Given the description of an element on the screen output the (x, y) to click on. 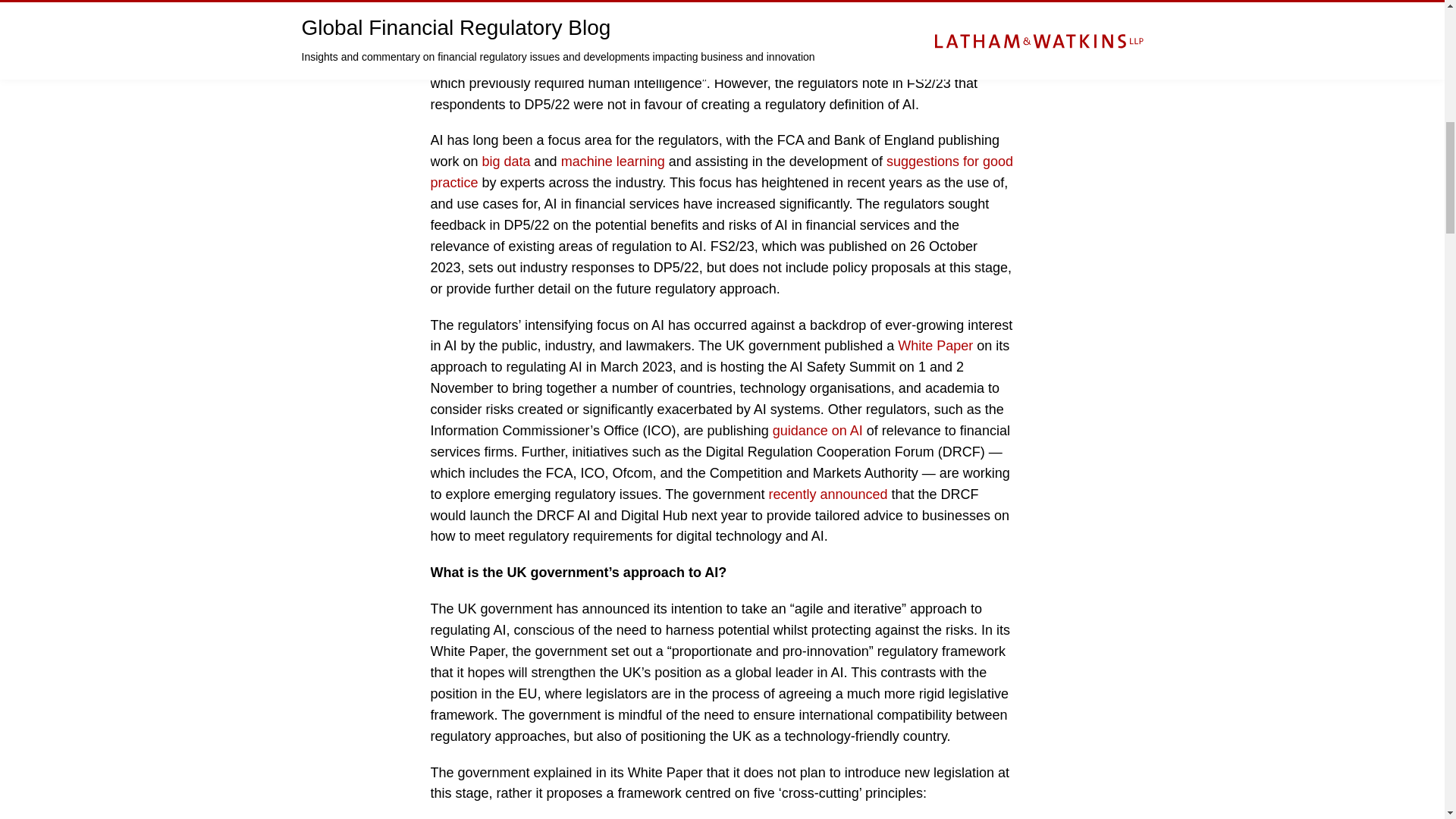
suggestions for good practice (721, 171)
guidance on AI (818, 430)
White Paper (935, 345)
recently announced (827, 494)
big data (506, 160)
machine learning (612, 160)
